Given the description of an element on the screen output the (x, y) to click on. 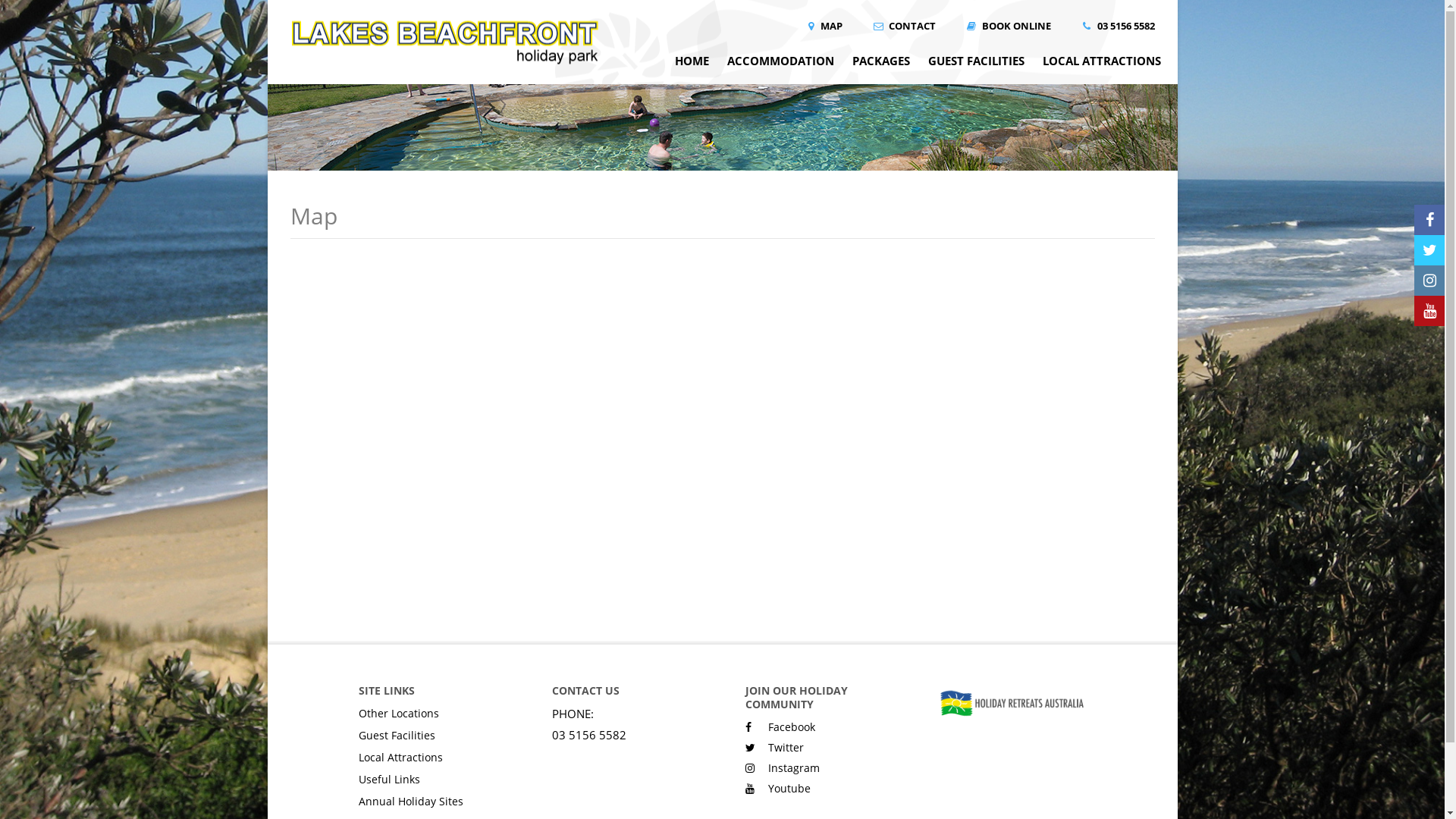
PACKAGES Element type: text (881, 68)
Follow us on Instagram Element type: hover (1429, 280)
03 5156 5582 Element type: text (1117, 25)
MAP Element type: text (823, 25)
 Facebook Element type: text (779, 726)
HOME Element type: text (691, 68)
Useful Links Element type: text (431, 778)
 Twitter Element type: text (773, 747)
Annual Holiday Sites Element type: text (431, 800)
 Instagram Element type: text (781, 767)
GUEST FACILITIES Element type: text (976, 68)
Guest Facilities Element type: text (431, 735)
Follow us on Facebook Element type: hover (1429, 219)
BOOK ONLINE Element type: text (1008, 25)
Local Attractions Element type: text (431, 756)
 Youtube Element type: text (776, 788)
Follow us on Twitter Element type: hover (1429, 250)
03 5156 5582 Element type: text (589, 734)
ACCOMMODATION Element type: text (779, 68)
Follow us on Youtube Element type: hover (1429, 310)
Other Locations Element type: text (431, 713)
CONTACT Element type: text (903, 25)
LOCAL ATTRACTIONS Element type: text (1100, 68)
